Given the description of an element on the screen output the (x, y) to click on. 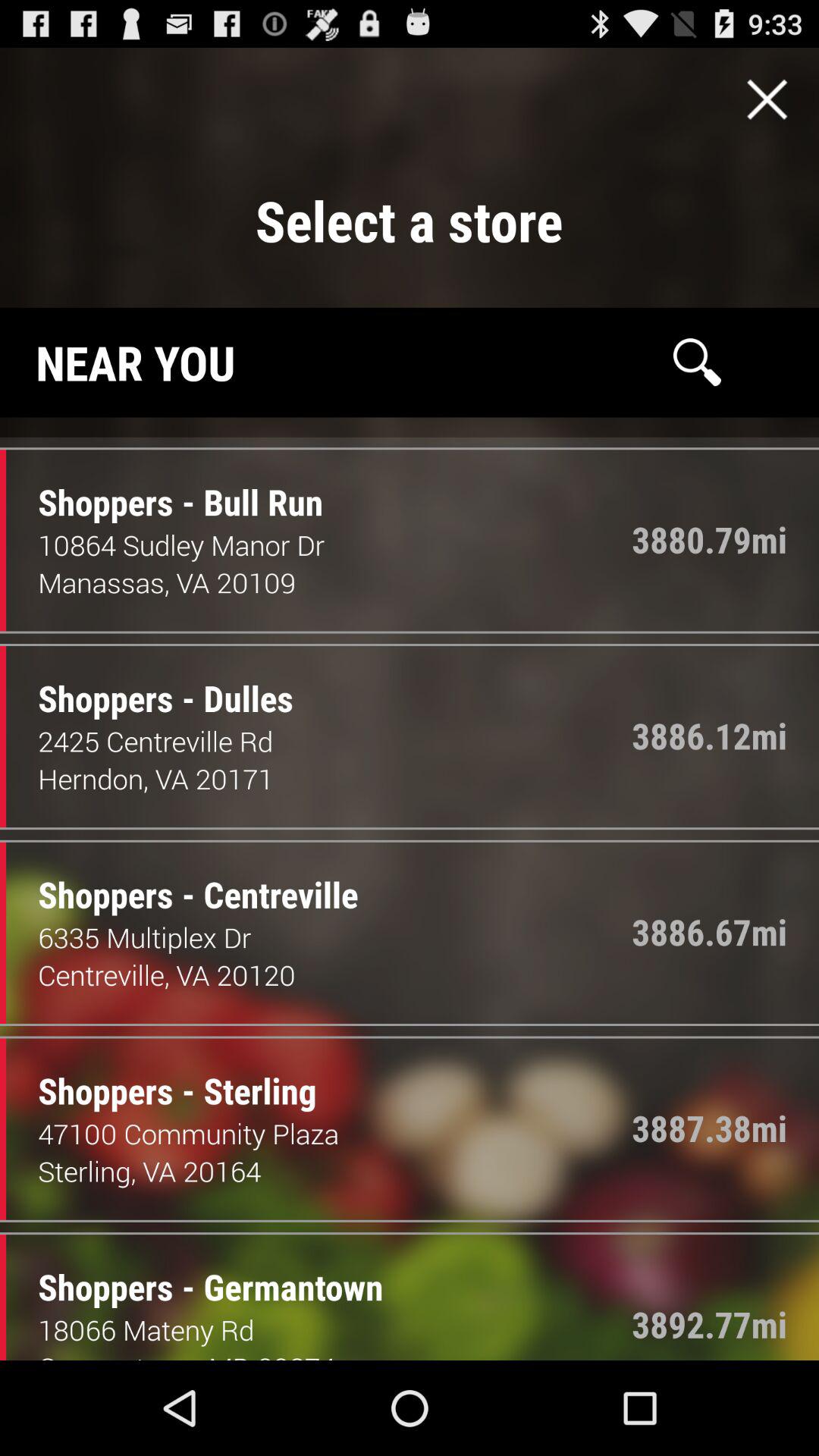
click the item next to the 3887.38mi item (334, 1133)
